Given the description of an element on the screen output the (x, y) to click on. 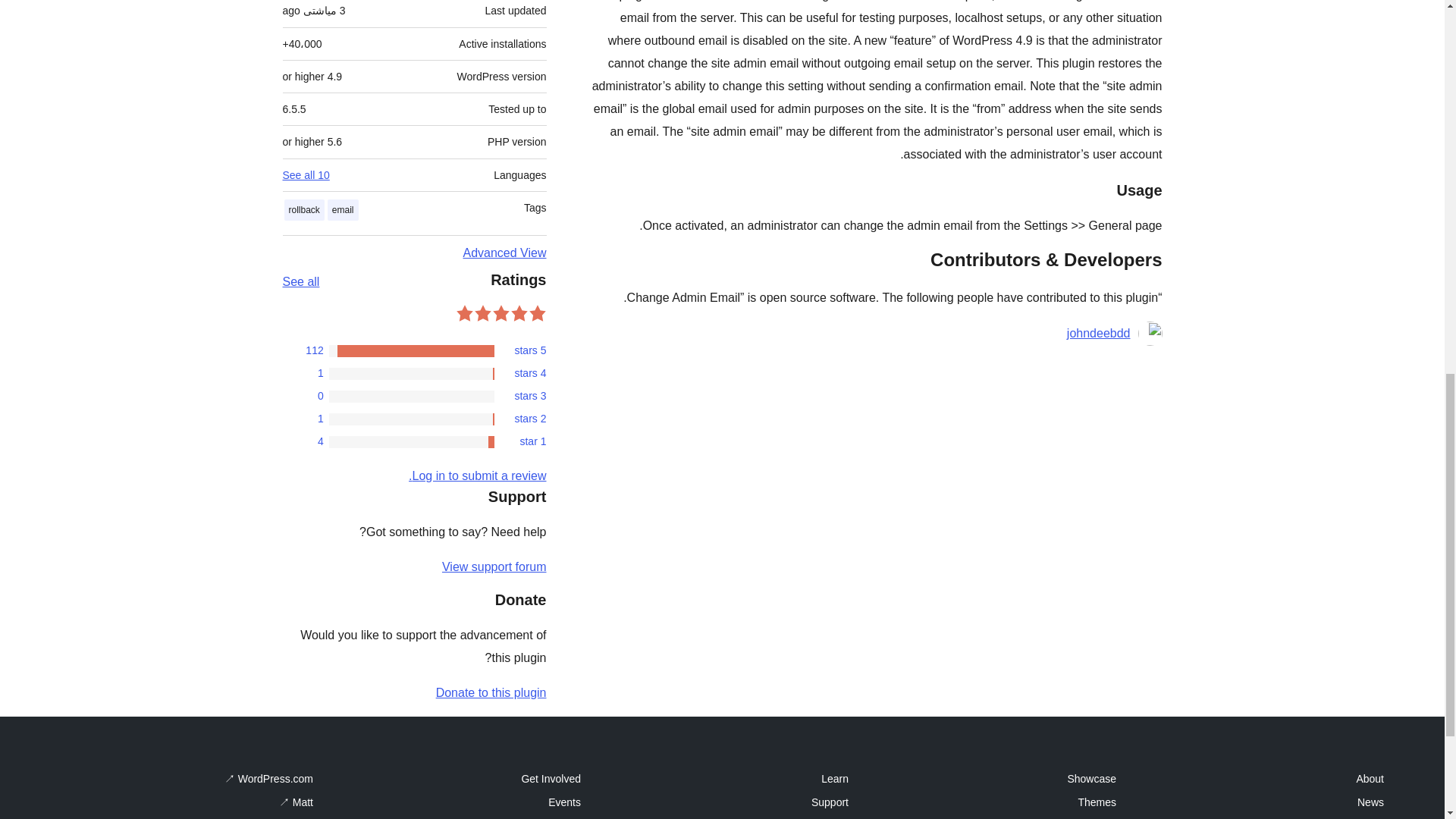
Log in to WordPress.org (477, 475)
